Given the description of an element on the screen output the (x, y) to click on. 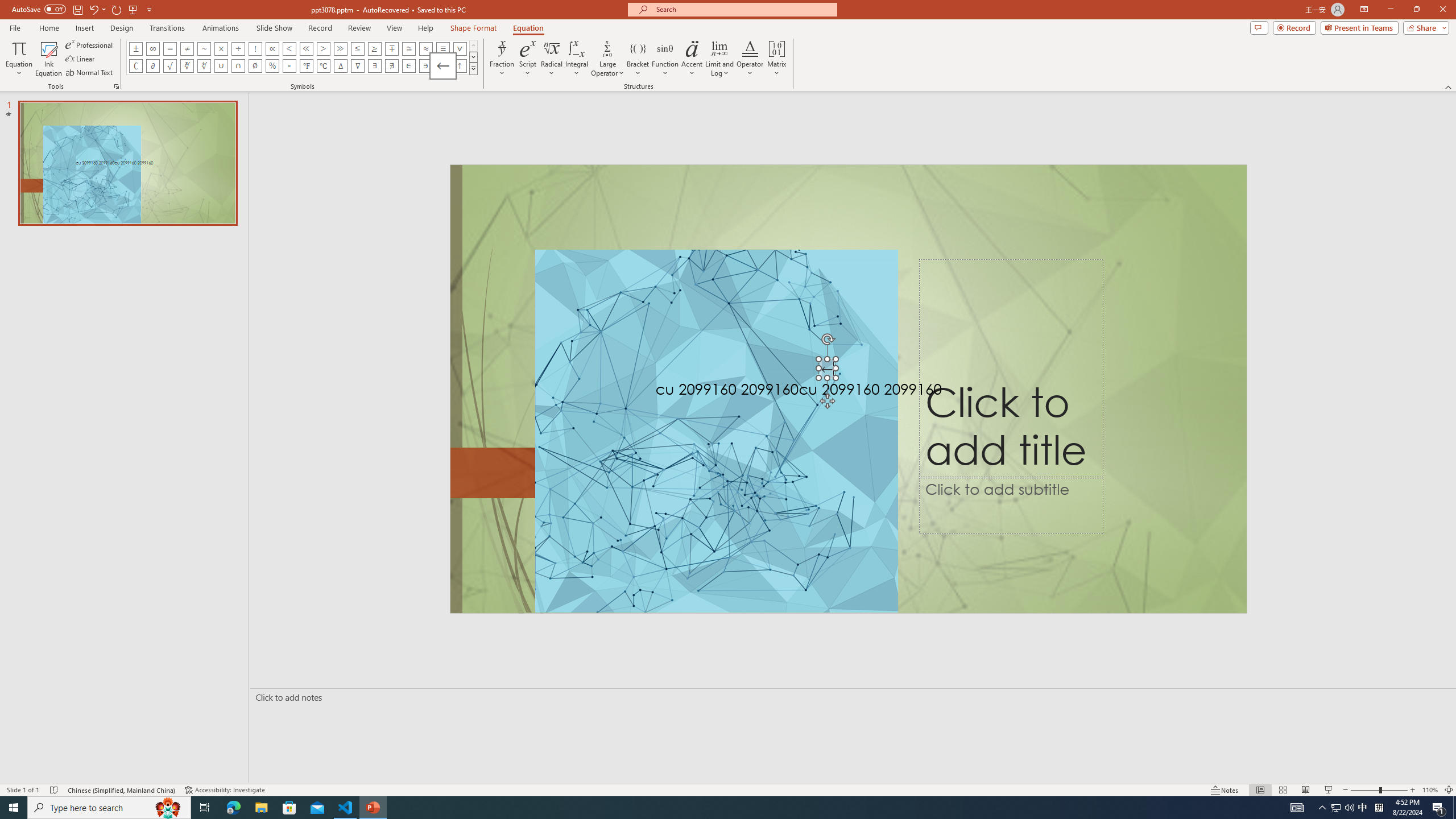
Matrix (776, 58)
Equation Symbol Equal (170, 48)
Equation Options... (116, 85)
Equation Symbol Proportional To (272, 48)
